Given the description of an element on the screen output the (x, y) to click on. 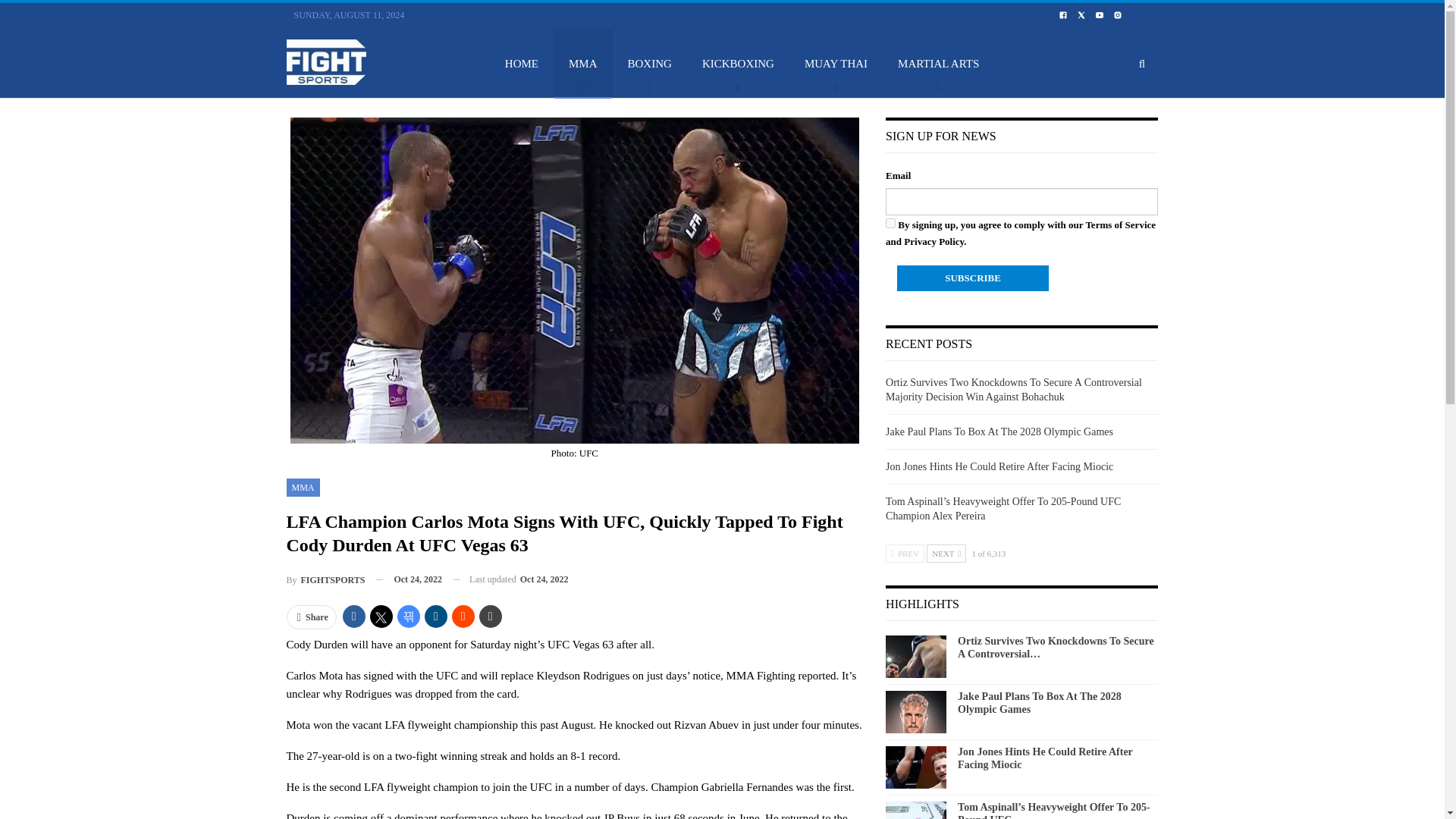
KICKBOXING (738, 63)
BOXING (649, 63)
instagram (1117, 13)
instagram (1117, 14)
facebook (1062, 13)
twitter (1080, 13)
Subscribe (972, 278)
facebook (1062, 14)
youtube (1099, 13)
on (890, 223)
